Given the description of an element on the screen output the (x, y) to click on. 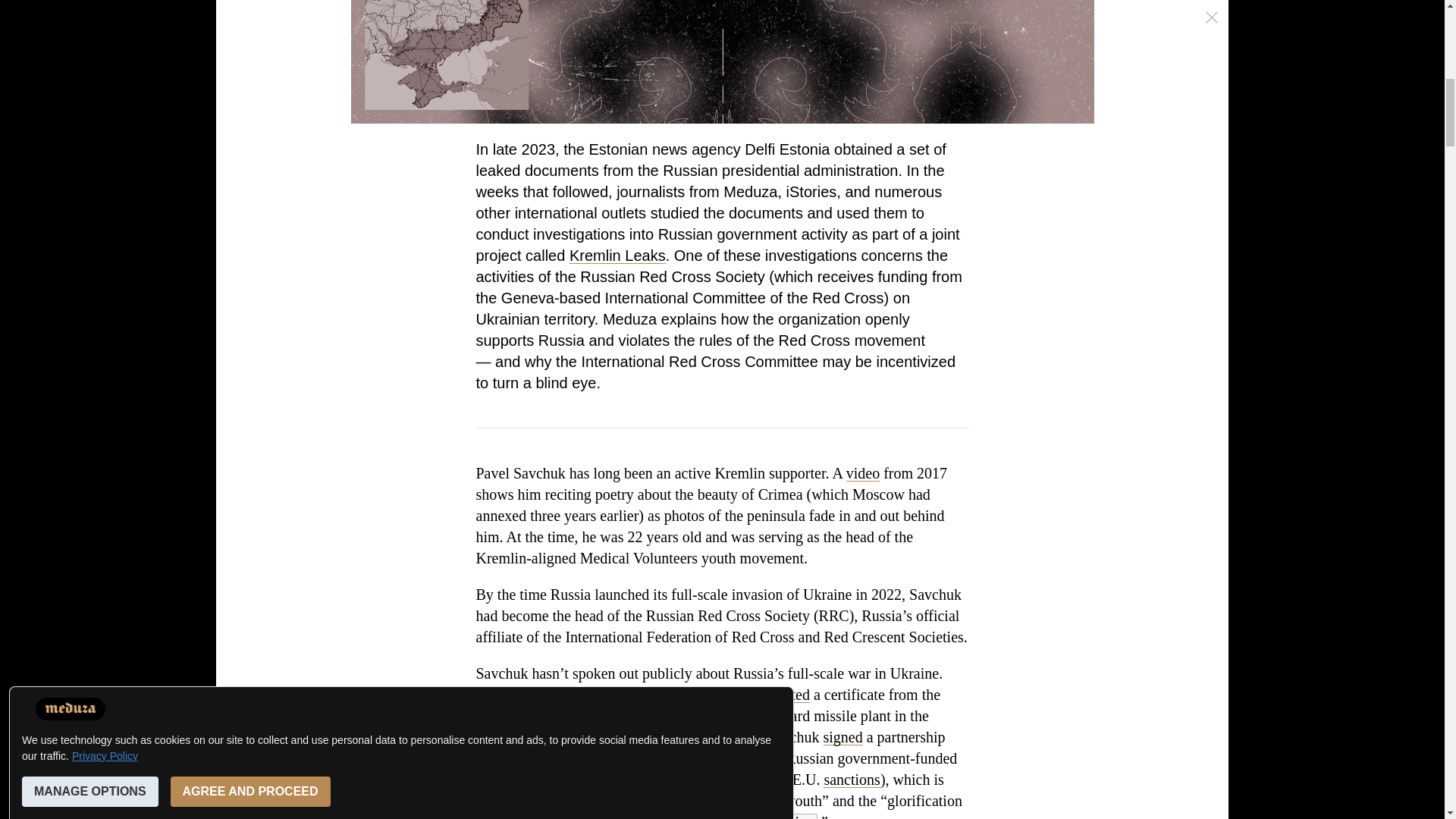
Kremlin Leaks (617, 255)
presented (780, 694)
signed (843, 736)
video (862, 473)
engaged in (508, 800)
sanctions (851, 779)
